Given the description of an element on the screen output the (x, y) to click on. 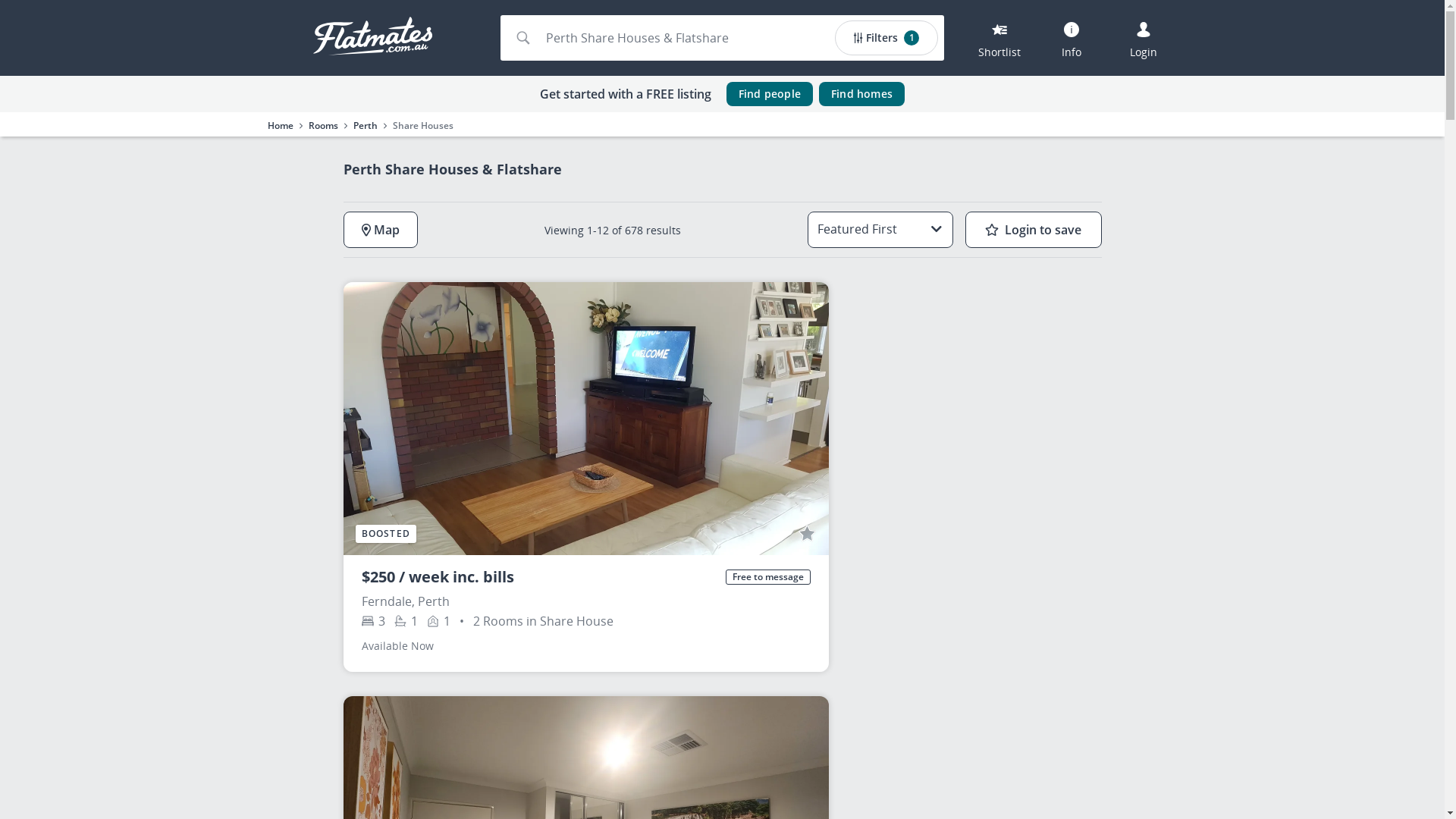
Info Element type: text (1071, 37)
Rooms Element type: text (322, 125)
Home Element type: text (279, 125)
Map Element type: text (379, 229)
Share Houses Element type: text (422, 125)
Perth Element type: text (365, 125)
Login to save Element type: text (1032, 229)
Perth Share Houses & Flatshare
Filters
1 Element type: text (722, 37)
Login Element type: text (1143, 37)
Find homes Element type: text (861, 93)
Shortlist Element type: text (999, 37)
Find people Element type: text (769, 93)
